Given the description of an element on the screen output the (x, y) to click on. 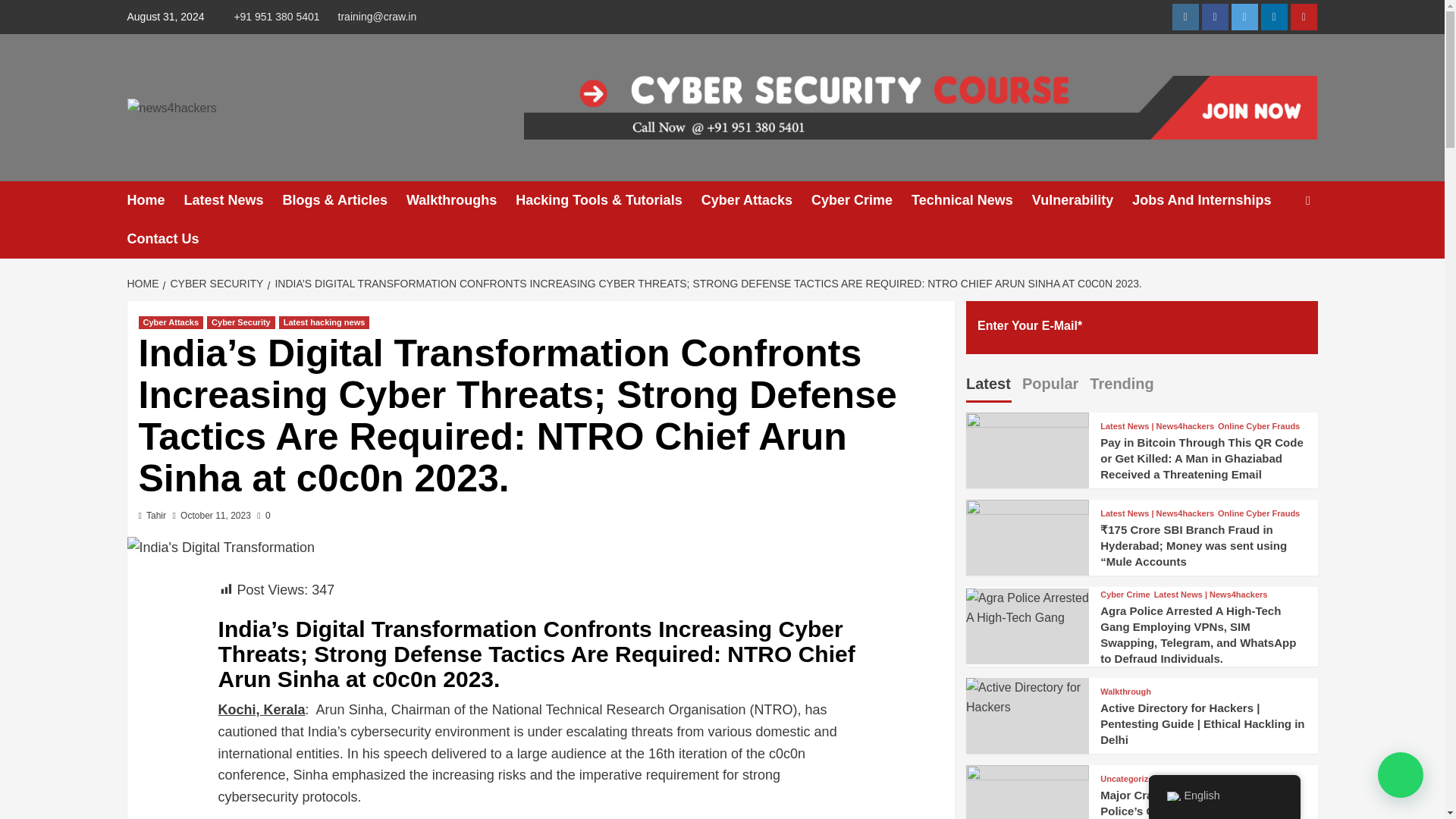
0 (263, 515)
Technical News (971, 200)
English (1172, 795)
Vulnerability (1082, 200)
Cyber Crime (860, 200)
Walkthroughs (460, 200)
Contact Us (173, 239)
CYBER SECURITY (213, 283)
Jobs And Internships (1211, 200)
Cyber Attacks (755, 200)
